Given the description of an element on the screen output the (x, y) to click on. 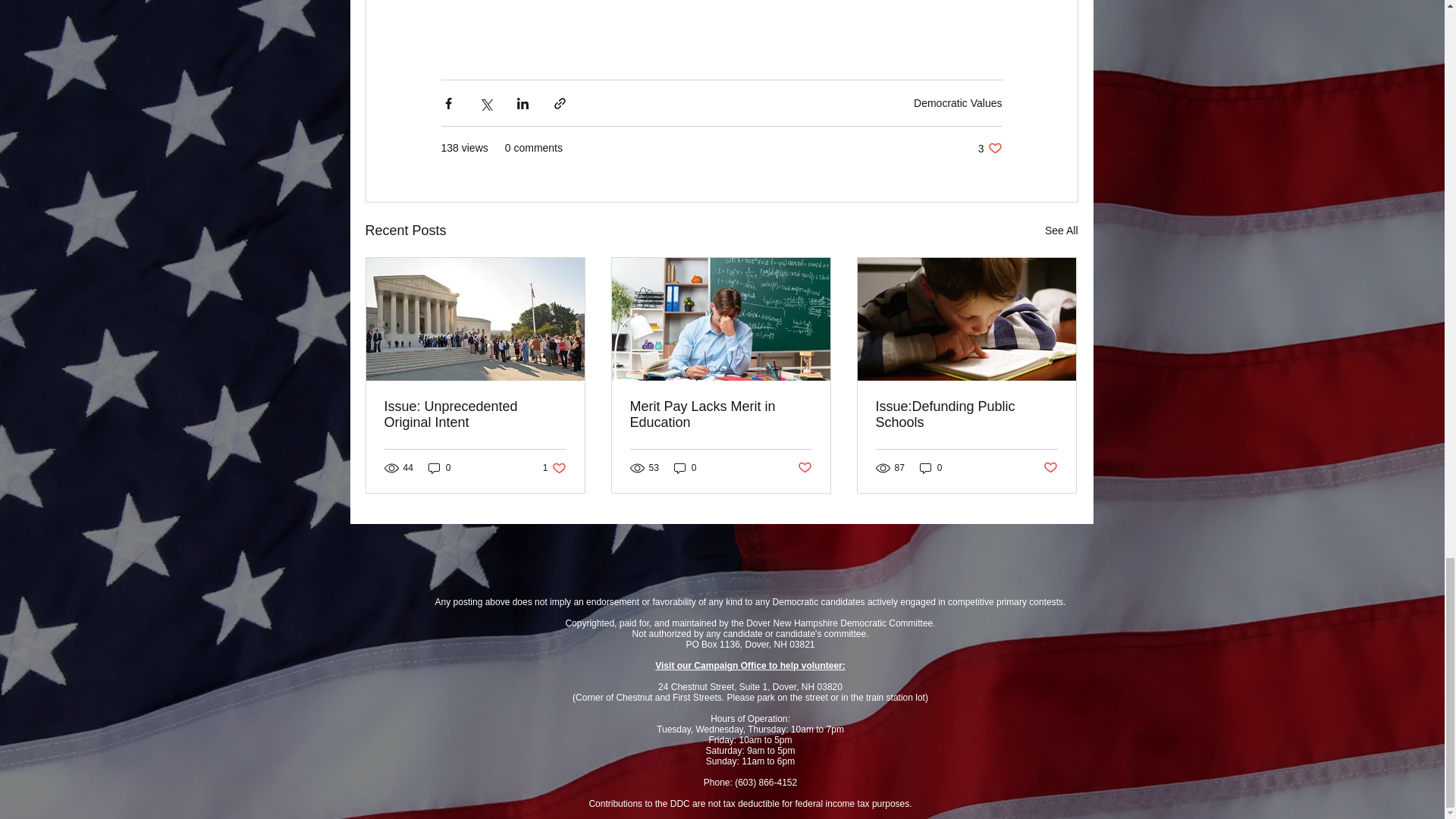
0 (990, 147)
See All (439, 468)
Democratic Values (554, 468)
Issue: Unprecedented Original Intent (1061, 230)
